Given the description of an element on the screen output the (x, y) to click on. 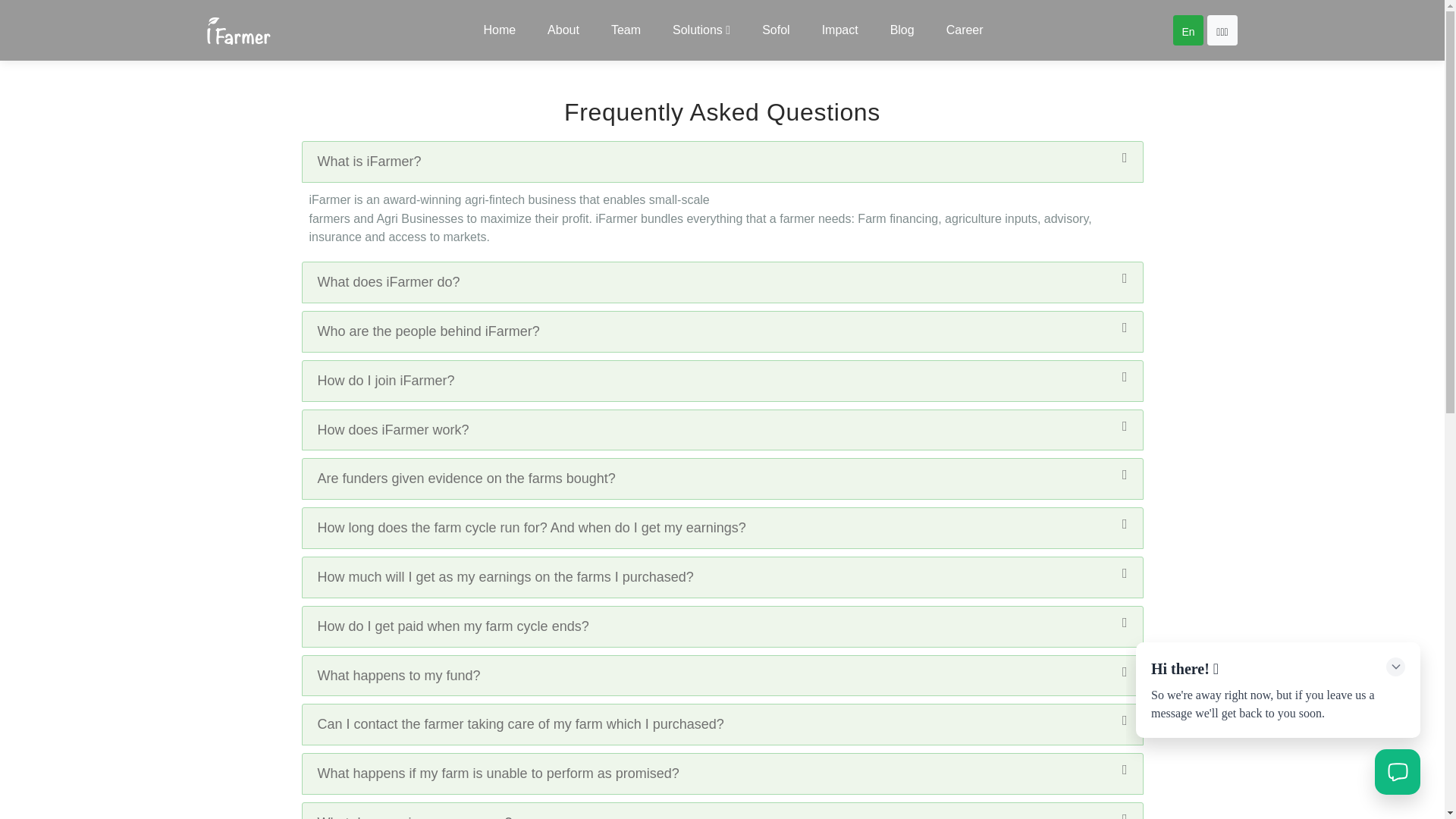
Team (625, 30)
Home (499, 30)
En (1187, 30)
Blog (901, 30)
Career (962, 30)
What is iFarmer? (721, 161)
About (563, 30)
Sofol (774, 30)
Who are the people behind iFarmer? (721, 332)
Are funders given evidence on the farms bought? (721, 478)
Solutions (701, 30)
How does iFarmer work? (721, 430)
Impact (839, 30)
What does iFarmer do? (721, 282)
How do I join iFarmer? (721, 381)
